Given the description of an element on the screen output the (x, y) to click on. 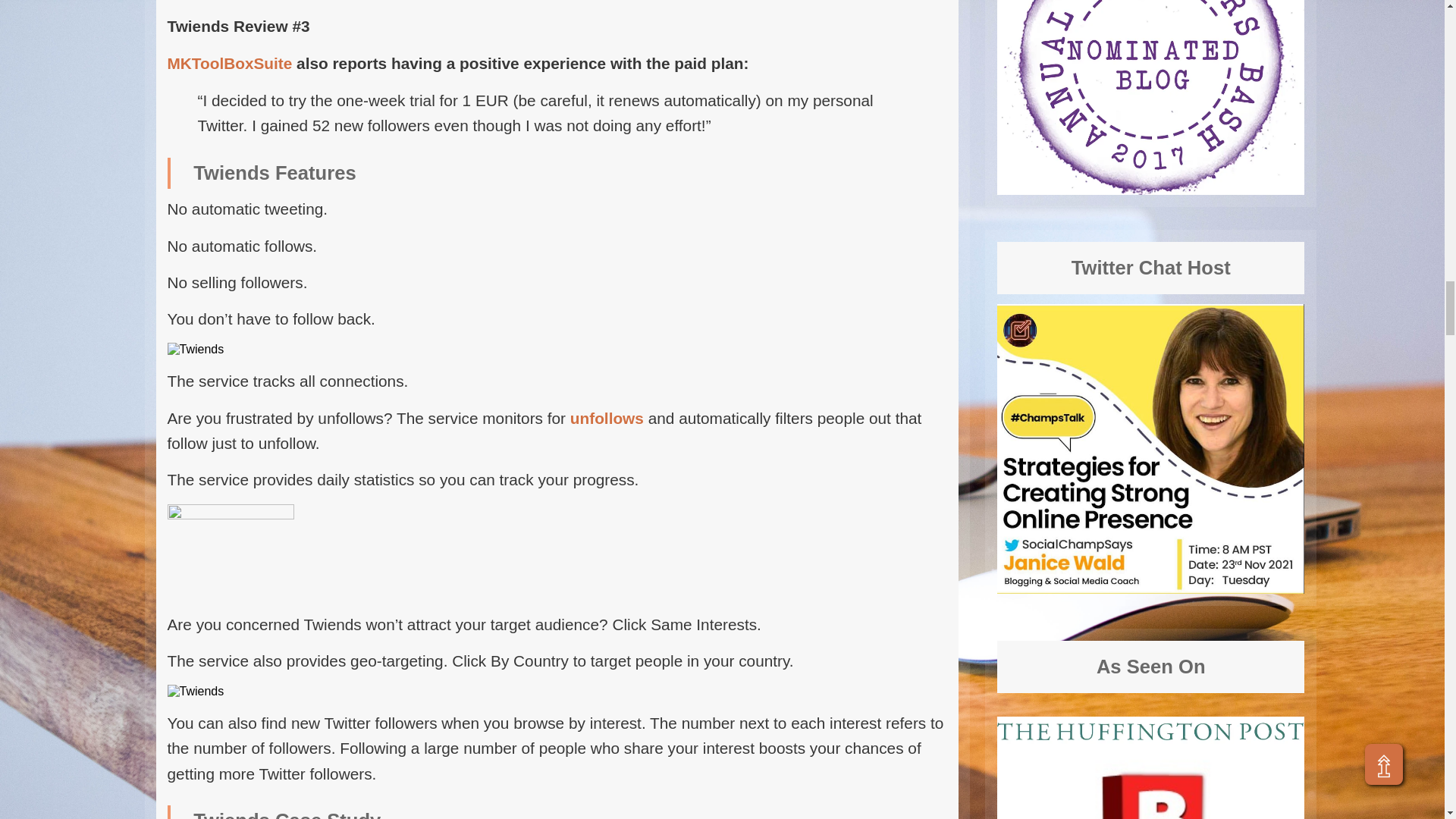
Best Marketing Blog Nominee (1150, 447)
